Given the description of an element on the screen output the (x, y) to click on. 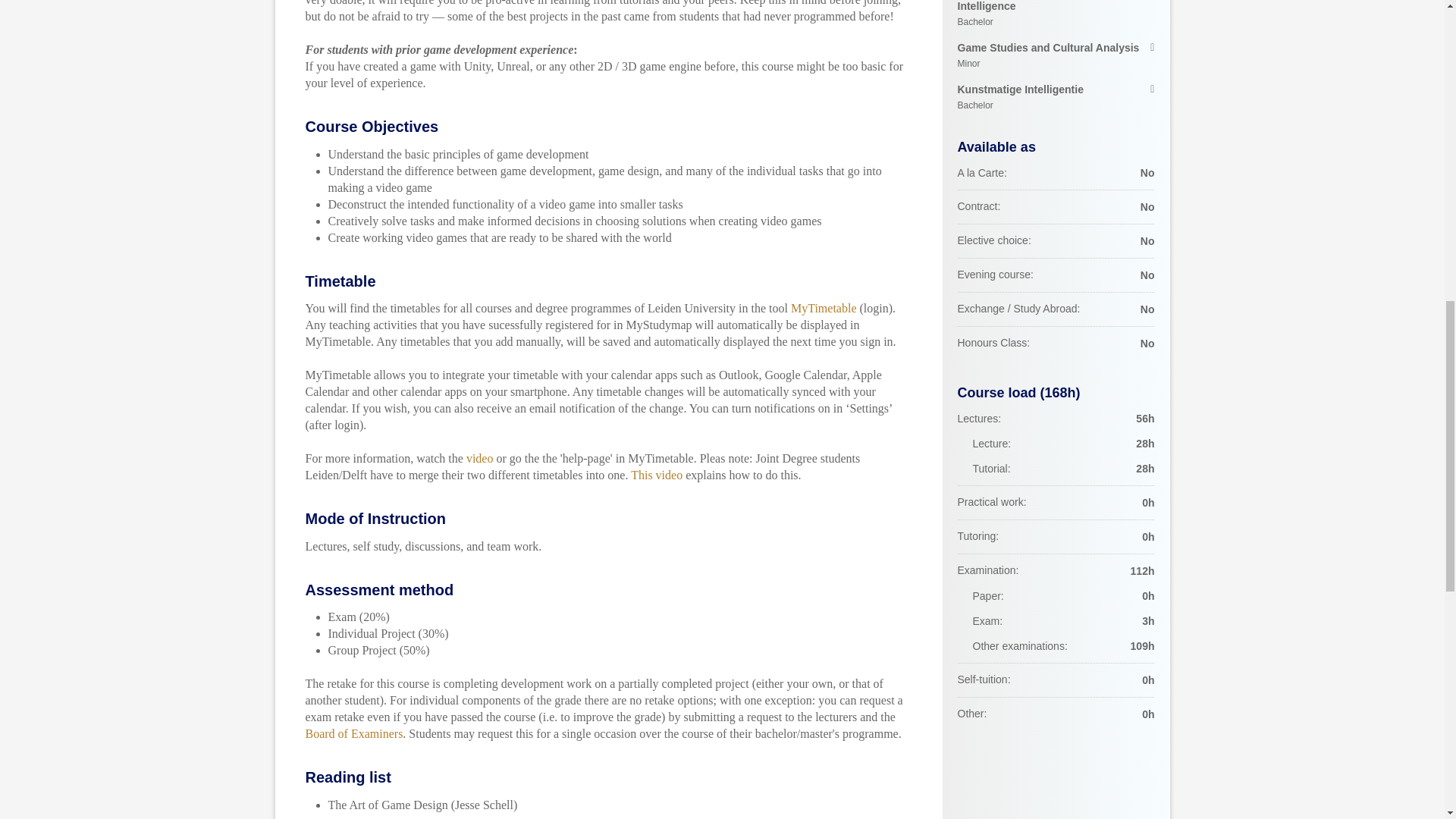
Board of Examiners (1055, 97)
MyTimetable (353, 733)
This video (1055, 15)
video (823, 308)
